Given the description of an element on the screen output the (x, y) to click on. 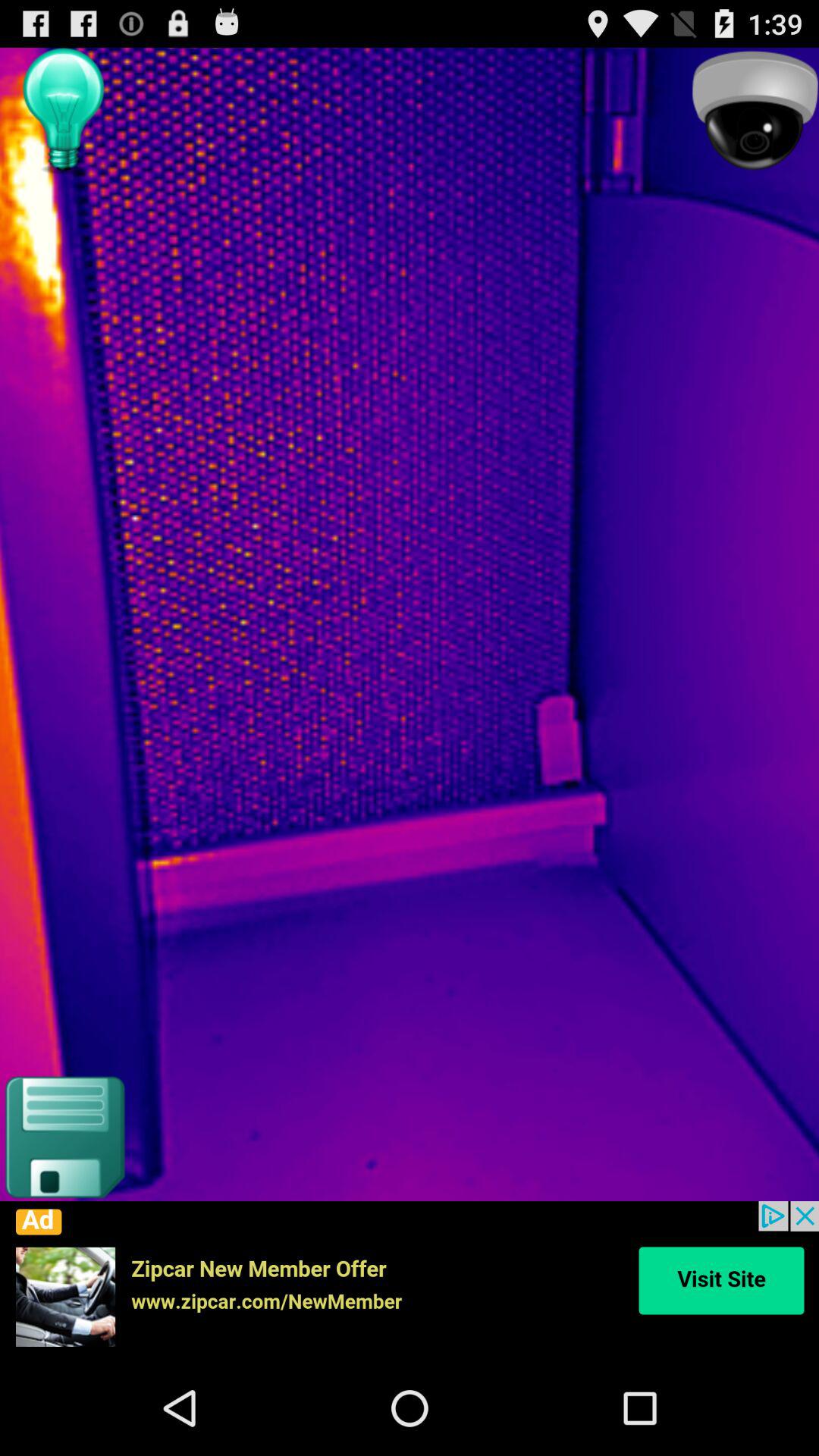
click security camera (755, 111)
